Given the description of an element on the screen output the (x, y) to click on. 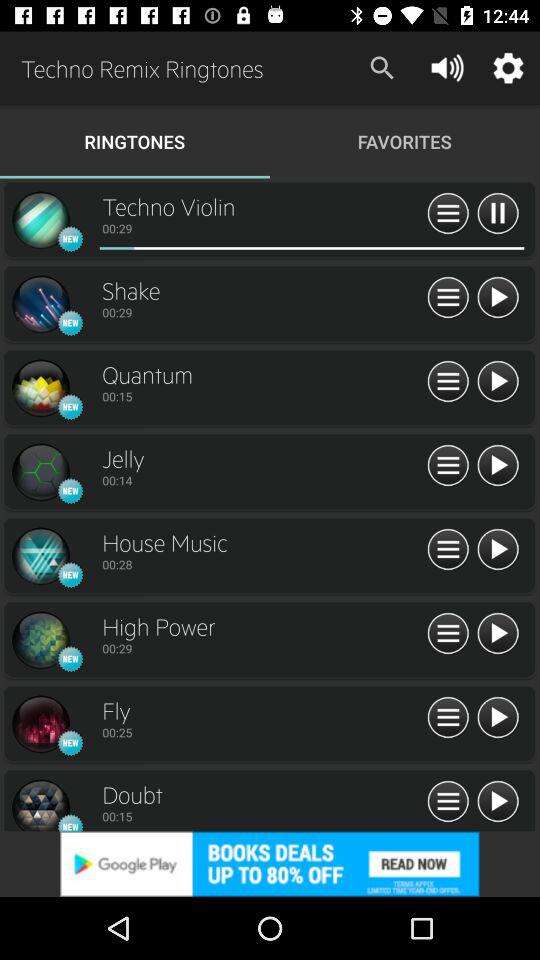
play (497, 297)
